Given the description of an element on the screen output the (x, y) to click on. 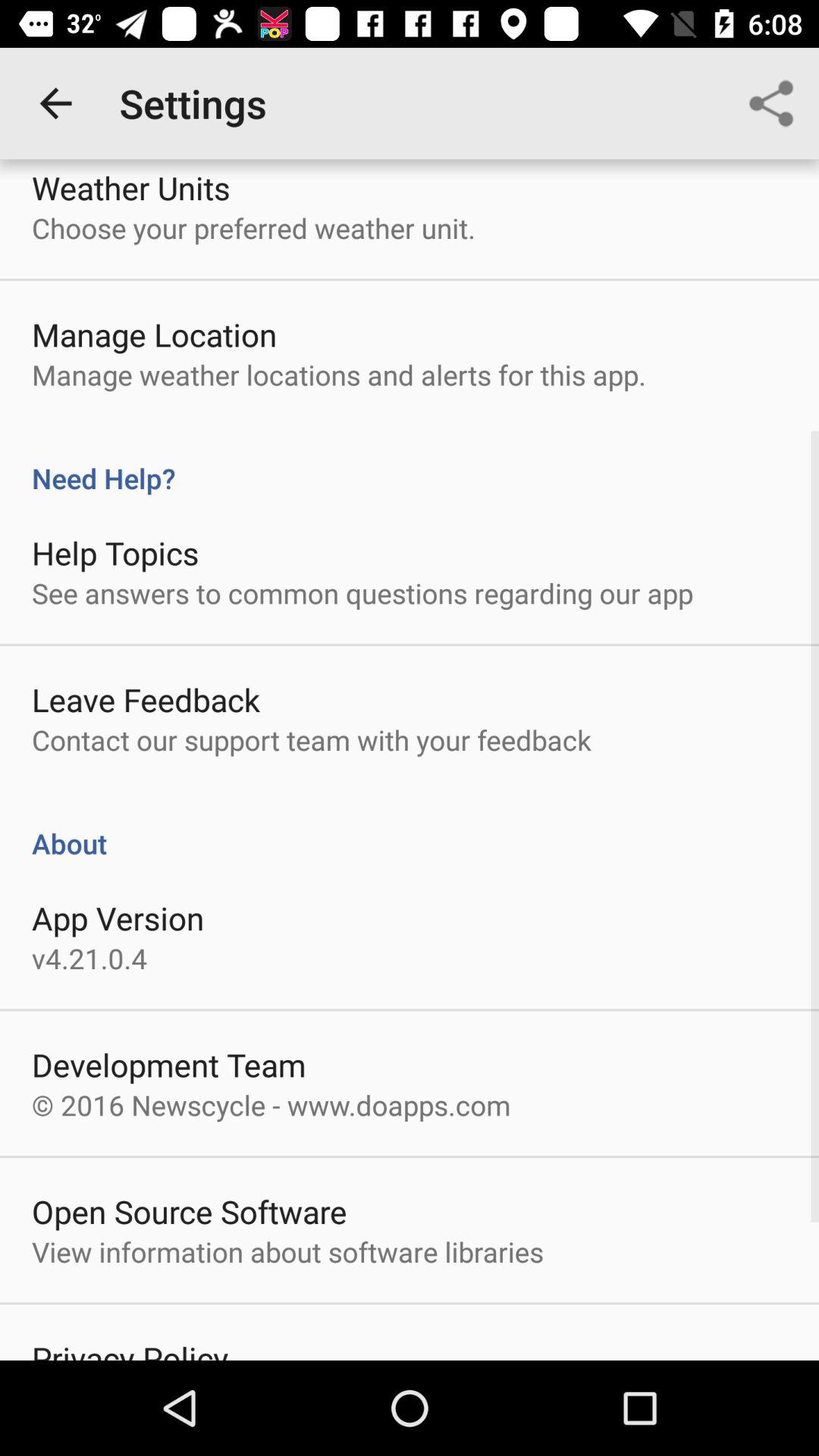
turn off app to the left of the settings  item (55, 103)
